Given the description of an element on the screen output the (x, y) to click on. 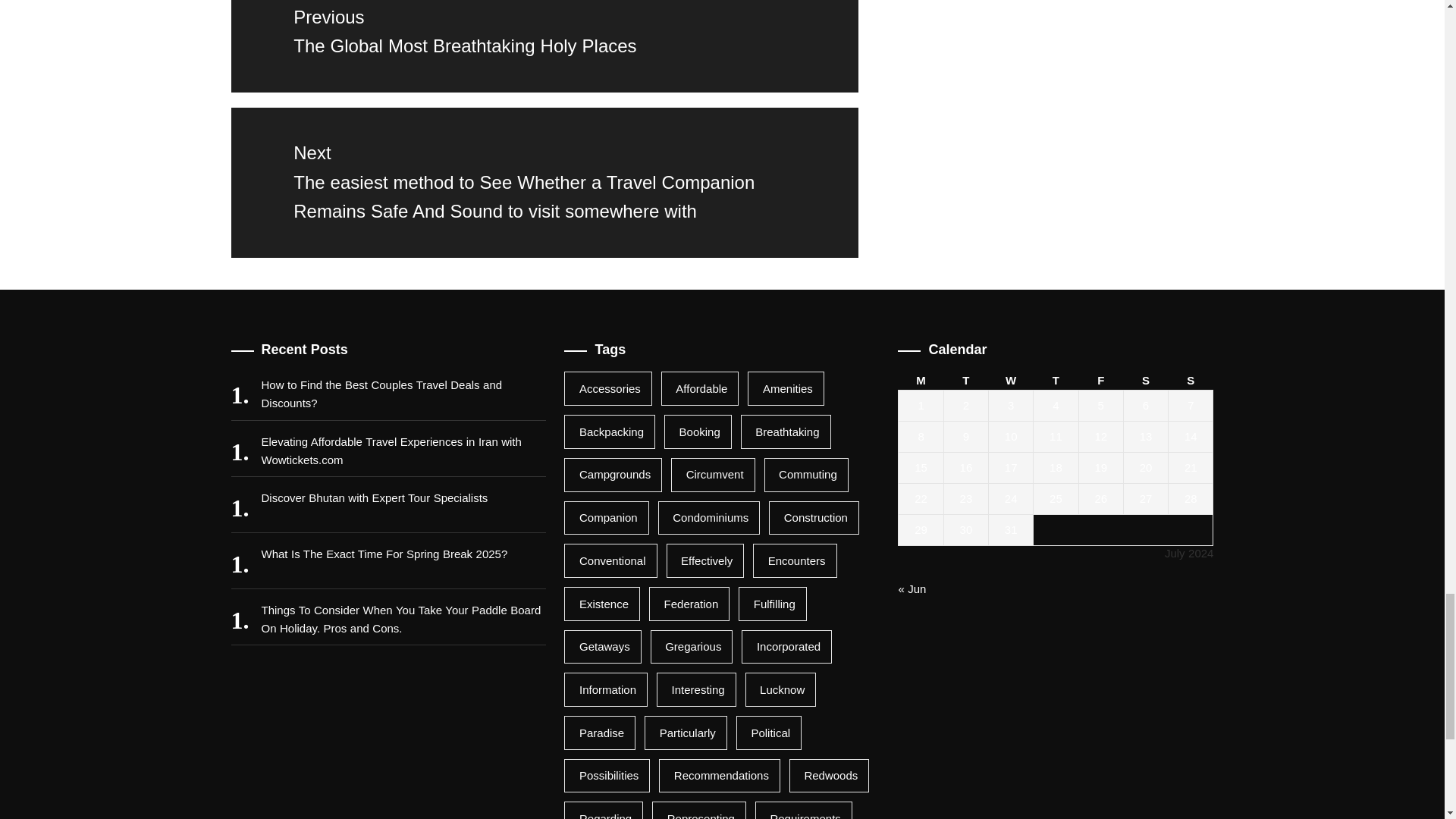
Monday (920, 380)
Tuesday (965, 380)
Sunday (1190, 380)
Friday (1100, 380)
Saturday (1144, 380)
Wednesday (1010, 380)
Thursday (1055, 380)
